Given the description of an element on the screen output the (x, y) to click on. 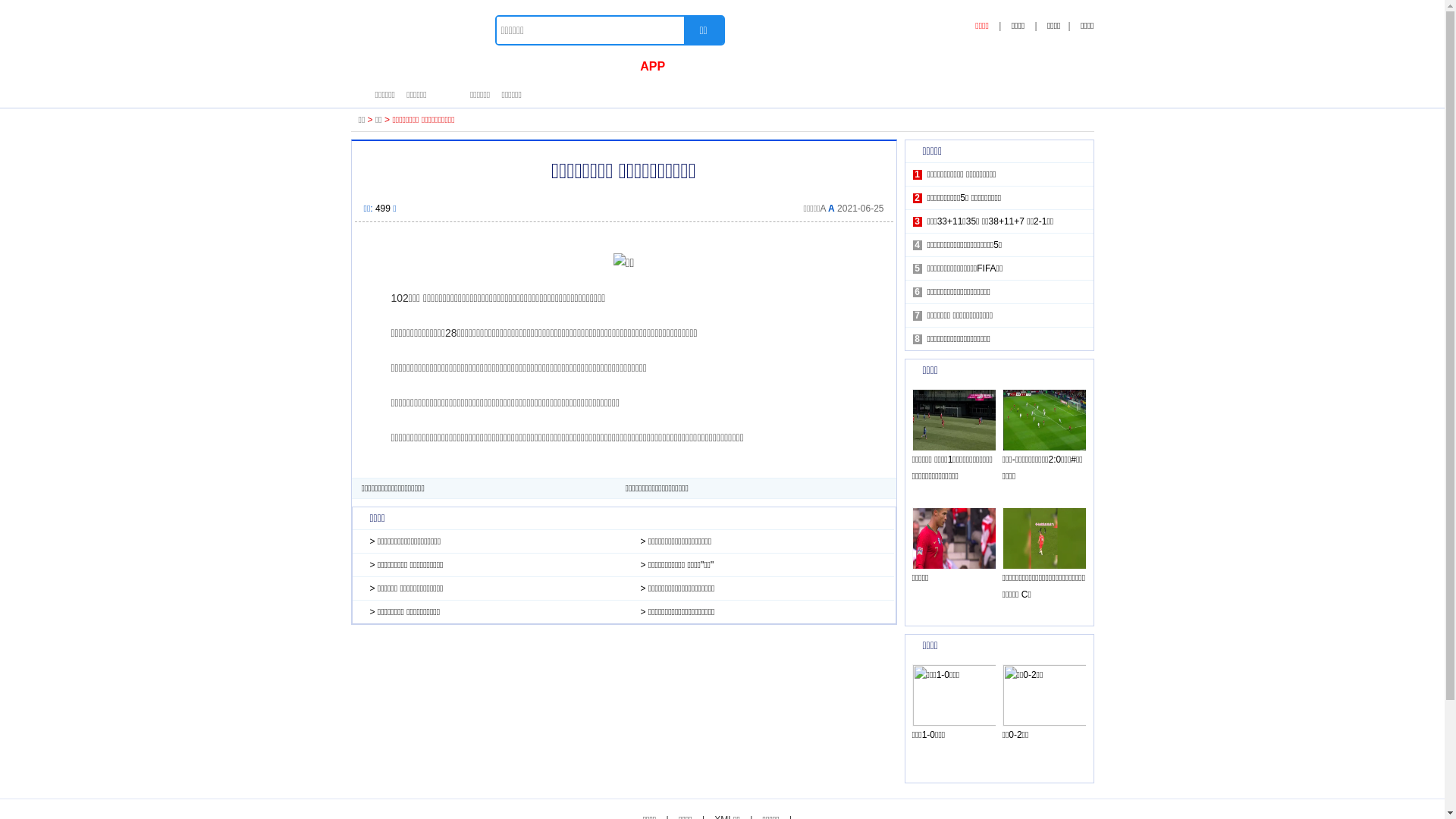
A Element type: text (831, 208)
499 Element type: text (383, 208)
A Element type: text (822, 208)
APP Element type: text (652, 66)
